Given the description of an element on the screen output the (x, y) to click on. 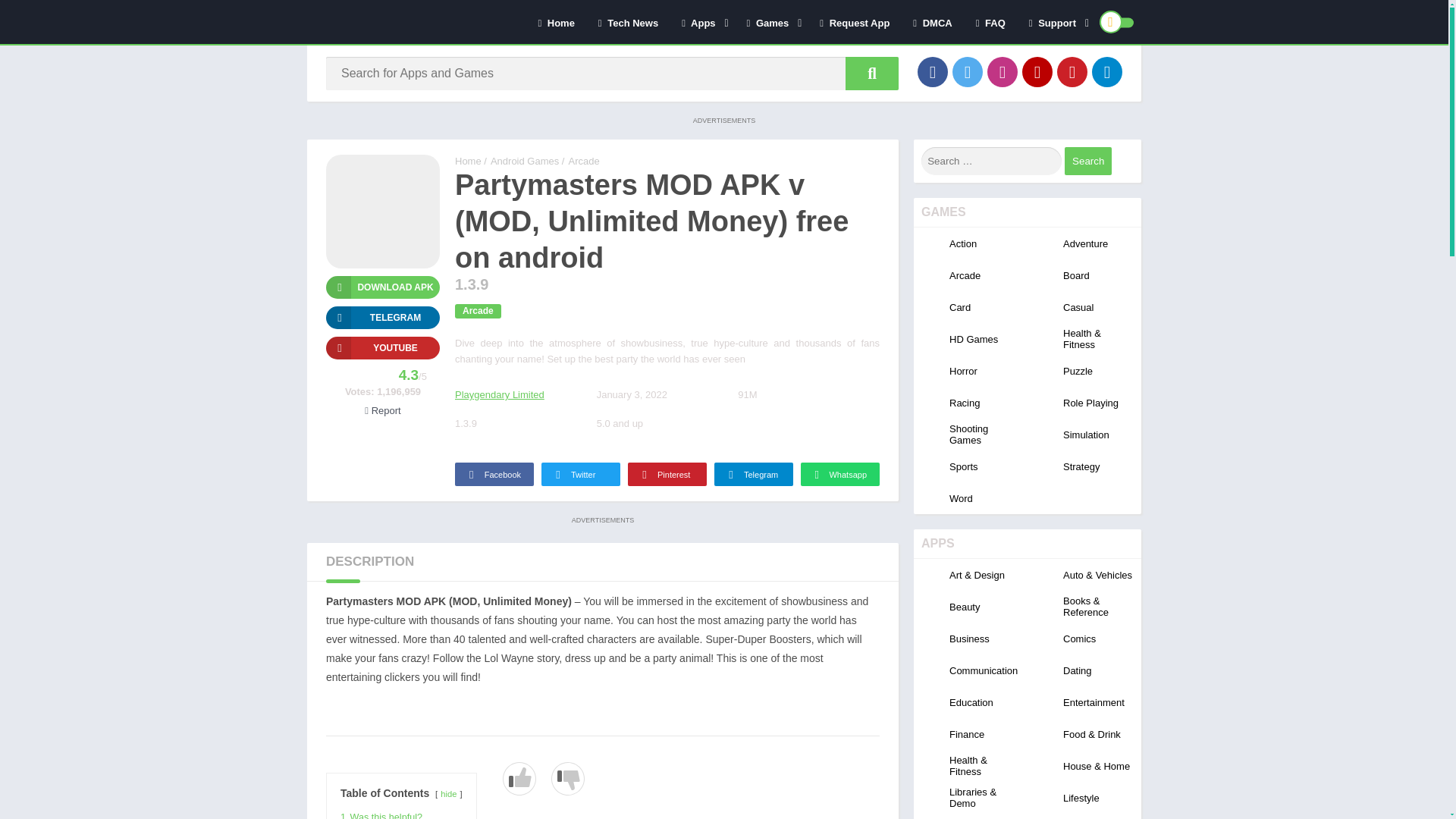
Search (1088, 161)
Home (555, 22)
Telegram (382, 317)
Telegram (1107, 71)
YouTube (1037, 71)
Twitter (967, 71)
Pinterest (1072, 71)
Apps (701, 22)
Facebook (932, 71)
Download APK (382, 287)
